Given the description of an element on the screen output the (x, y) to click on. 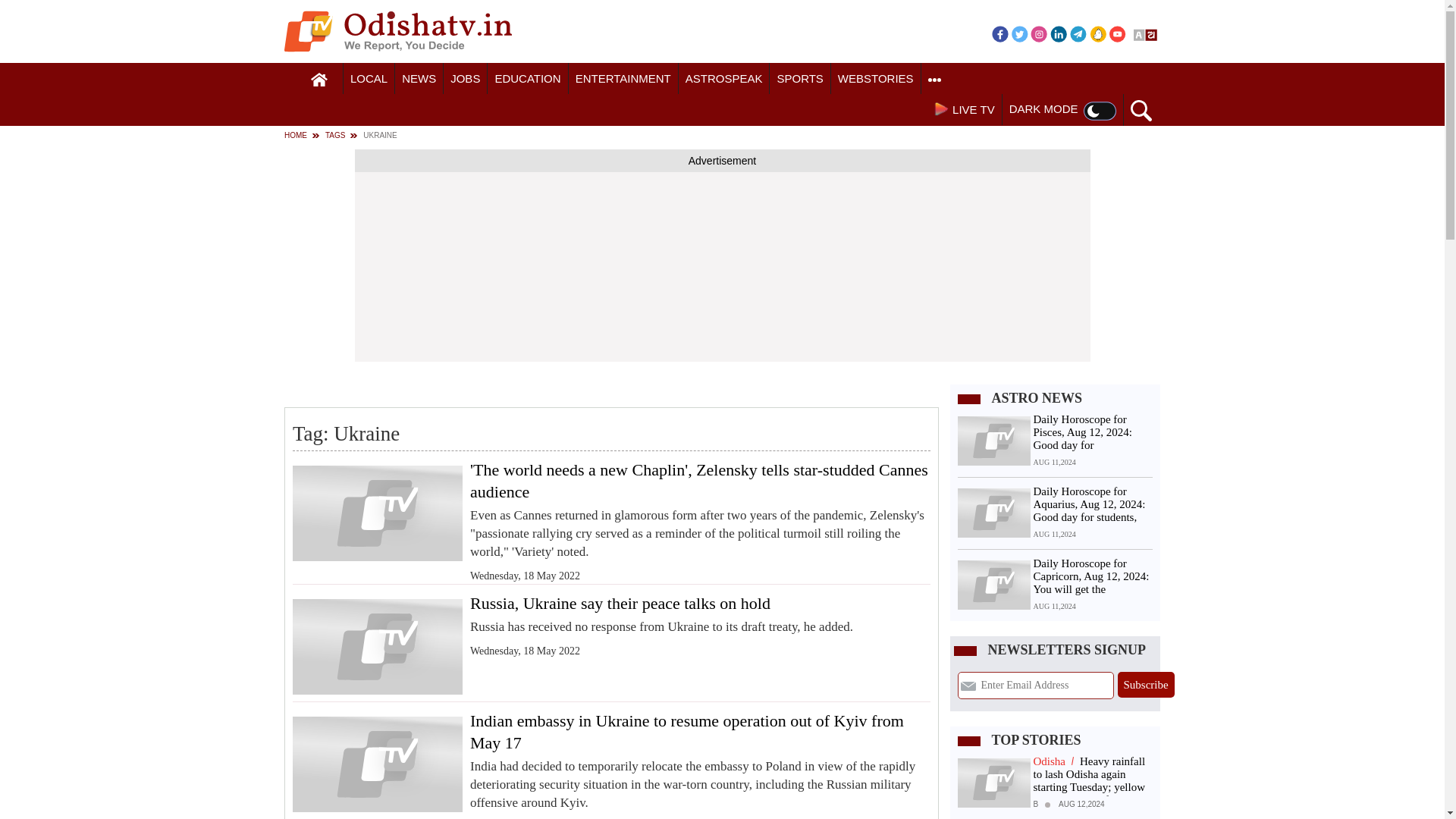
LinkedIn (1058, 33)
Facebook (1000, 33)
Odisha (368, 78)
Twitter (1019, 33)
NEWS (418, 78)
News (418, 78)
ENTERTAINMENT (623, 78)
EDUCATION (527, 78)
JOBS (465, 78)
Instagram (1038, 33)
